Given the description of an element on the screen output the (x, y) to click on. 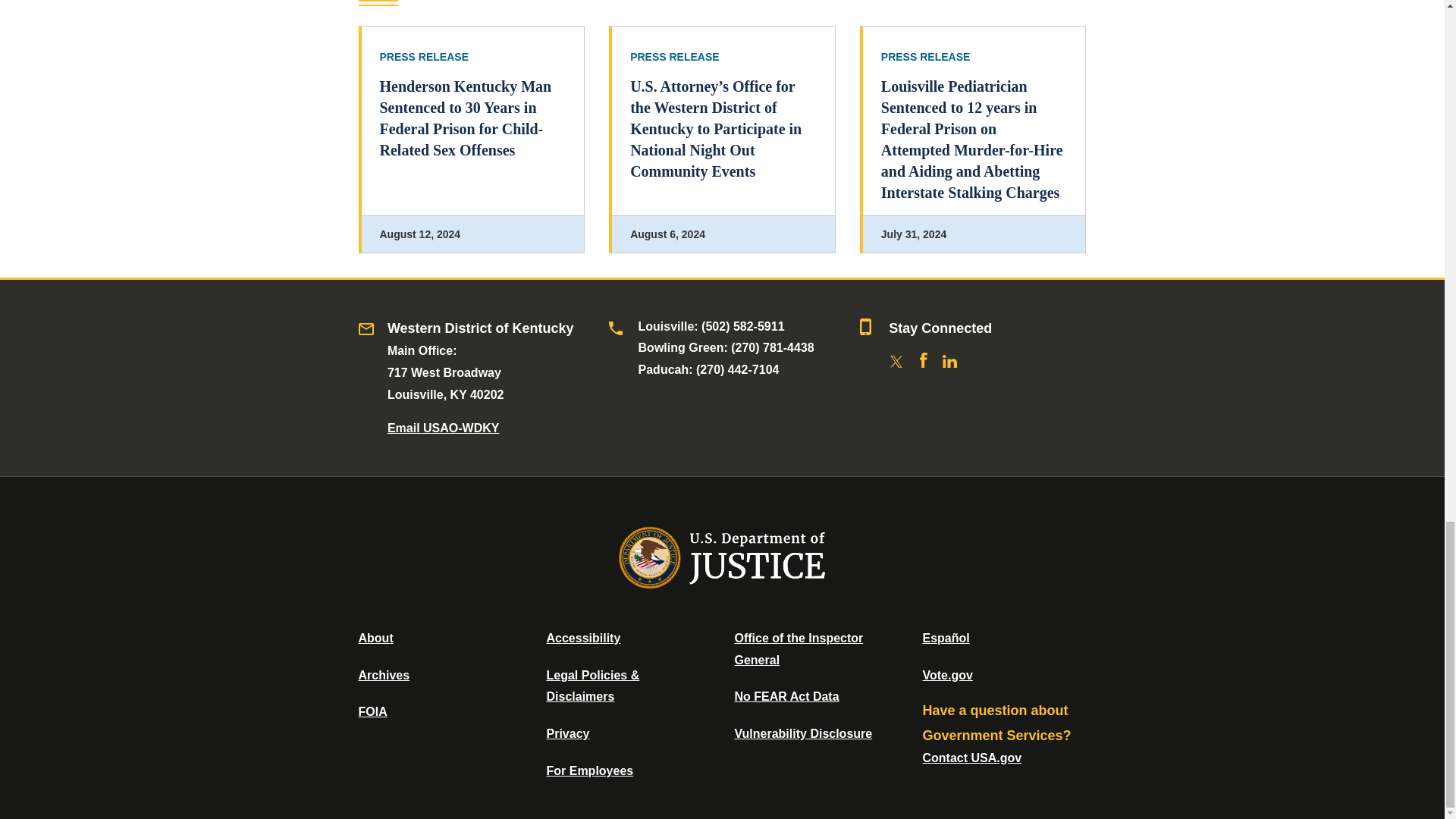
Department of Justice Archive (383, 675)
Data Posted Pursuant To The No Fear Act (785, 696)
Email USAO-WDKY (443, 427)
For Employees (589, 770)
Accessibility Statement (583, 637)
About DOJ (375, 637)
Office of Information Policy (372, 711)
Legal Policies and Disclaimers (592, 686)
